Given the description of an element on the screen output the (x, y) to click on. 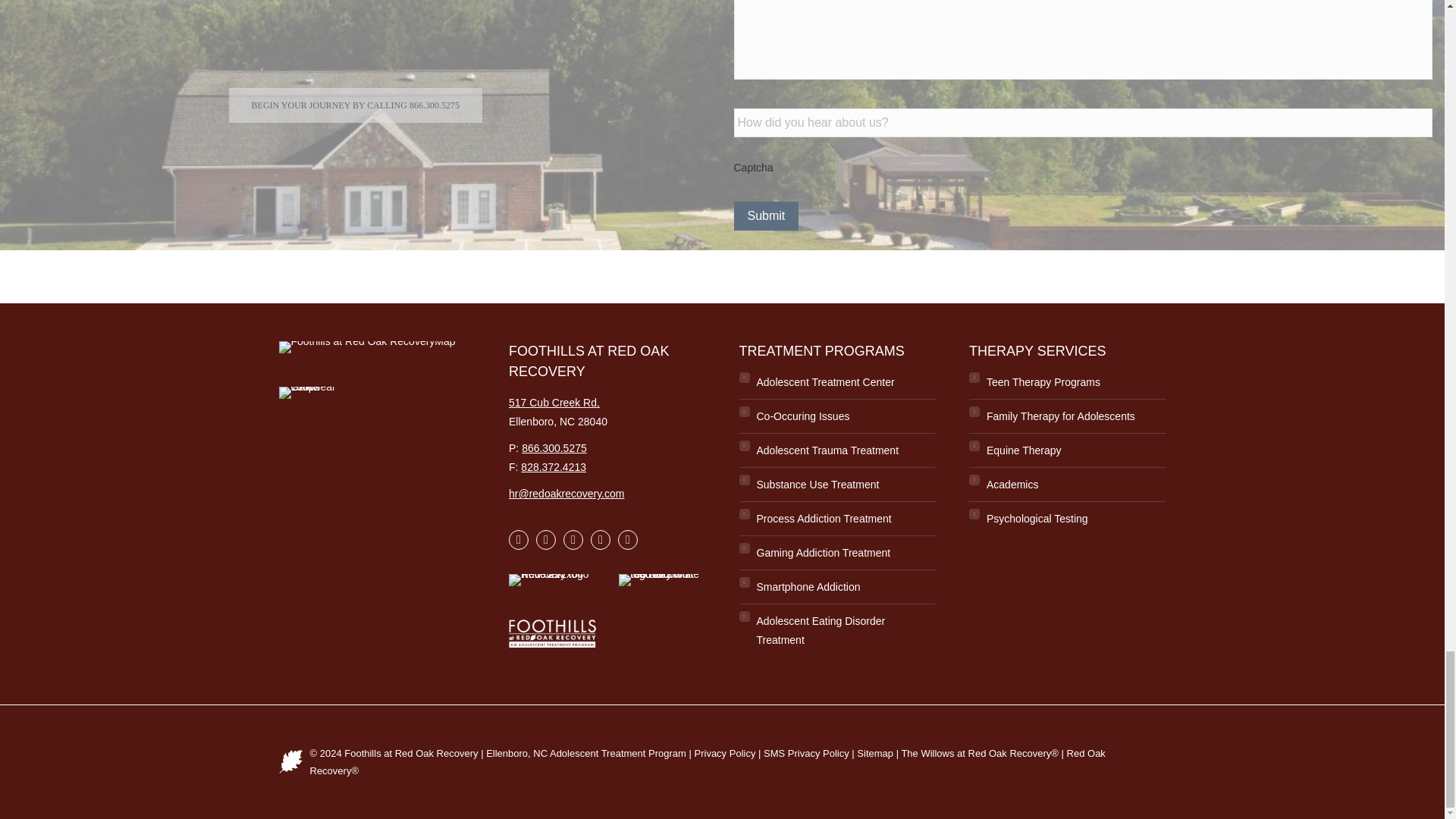
Submit (766, 215)
